Given the description of an element on the screen output the (x, y) to click on. 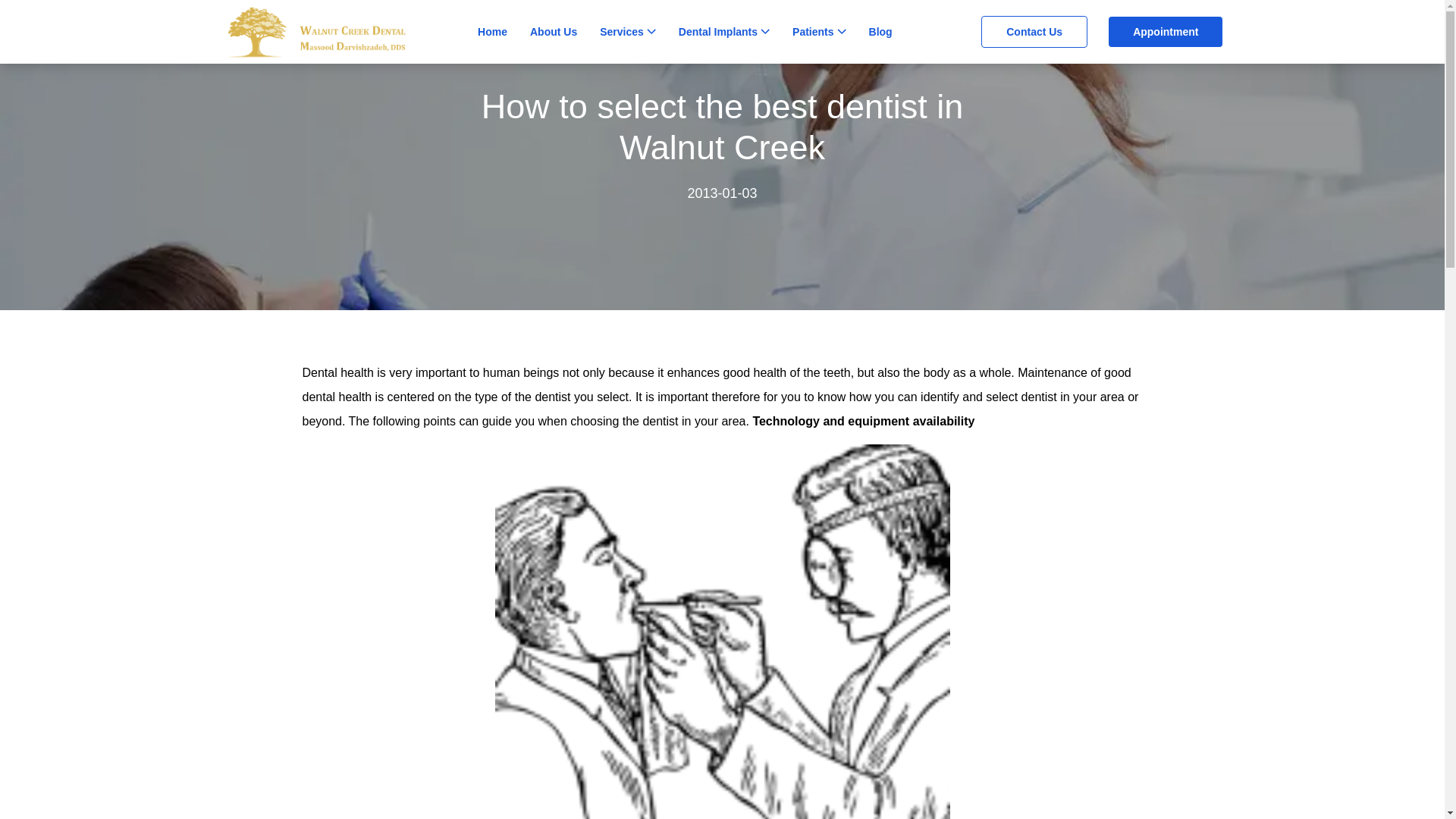
Dental Implants (717, 31)
Home (491, 31)
About Us (552, 31)
Services (621, 31)
